Given the description of an element on the screen output the (x, y) to click on. 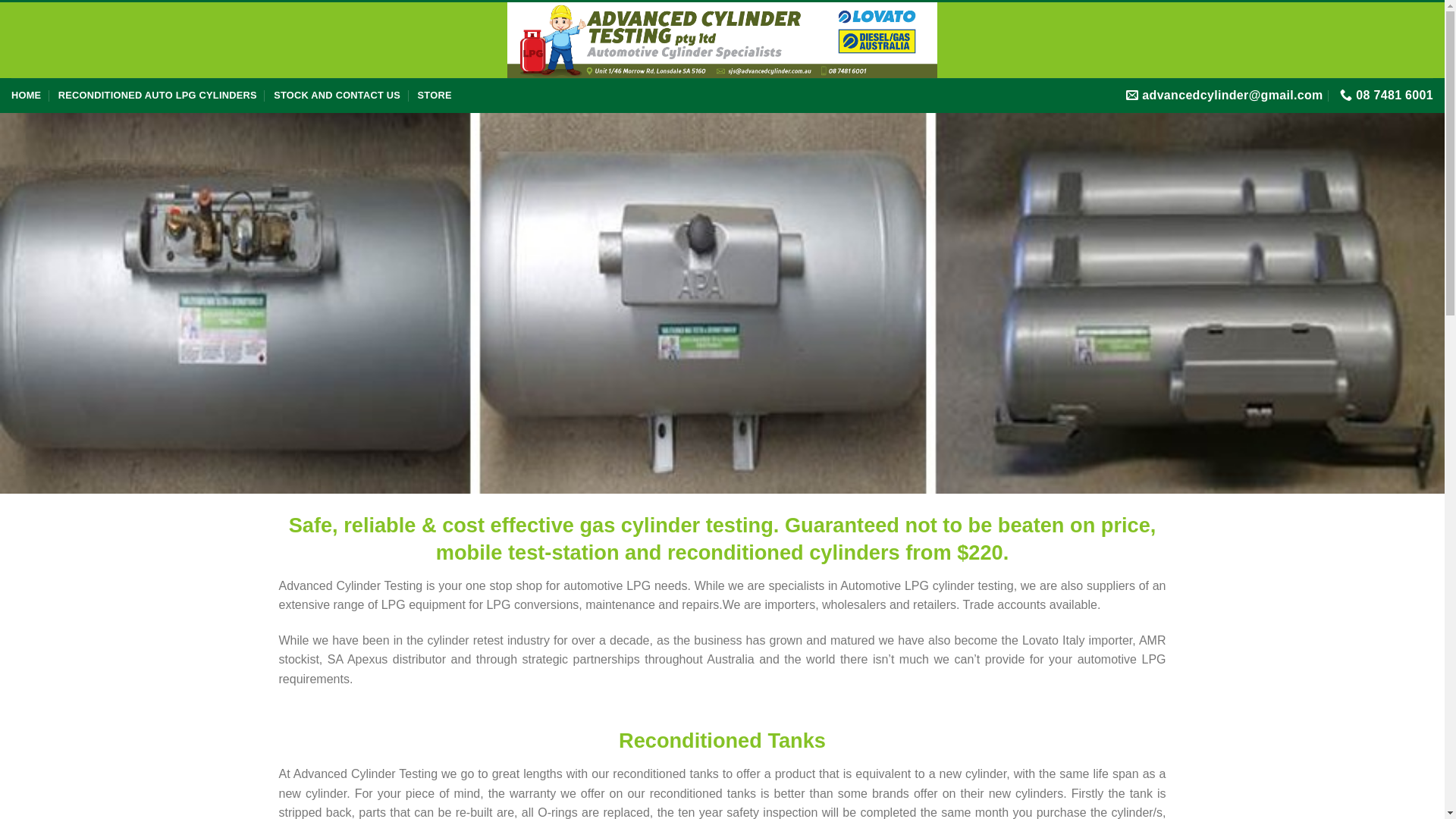
HOME Element type: text (25, 95)
advancedcylinder@gmail.com Element type: text (1224, 95)
RECONDITIONED AUTO LPG CYLINDERS Element type: text (157, 95)
LPG Cylinder Australia -  Element type: hover (721, 40)
08 7481 6001 Element type: text (1386, 95)
STORE Element type: text (434, 95)
STOCK AND CONTACT US Element type: text (336, 95)
